Given the description of an element on the screen output the (x, y) to click on. 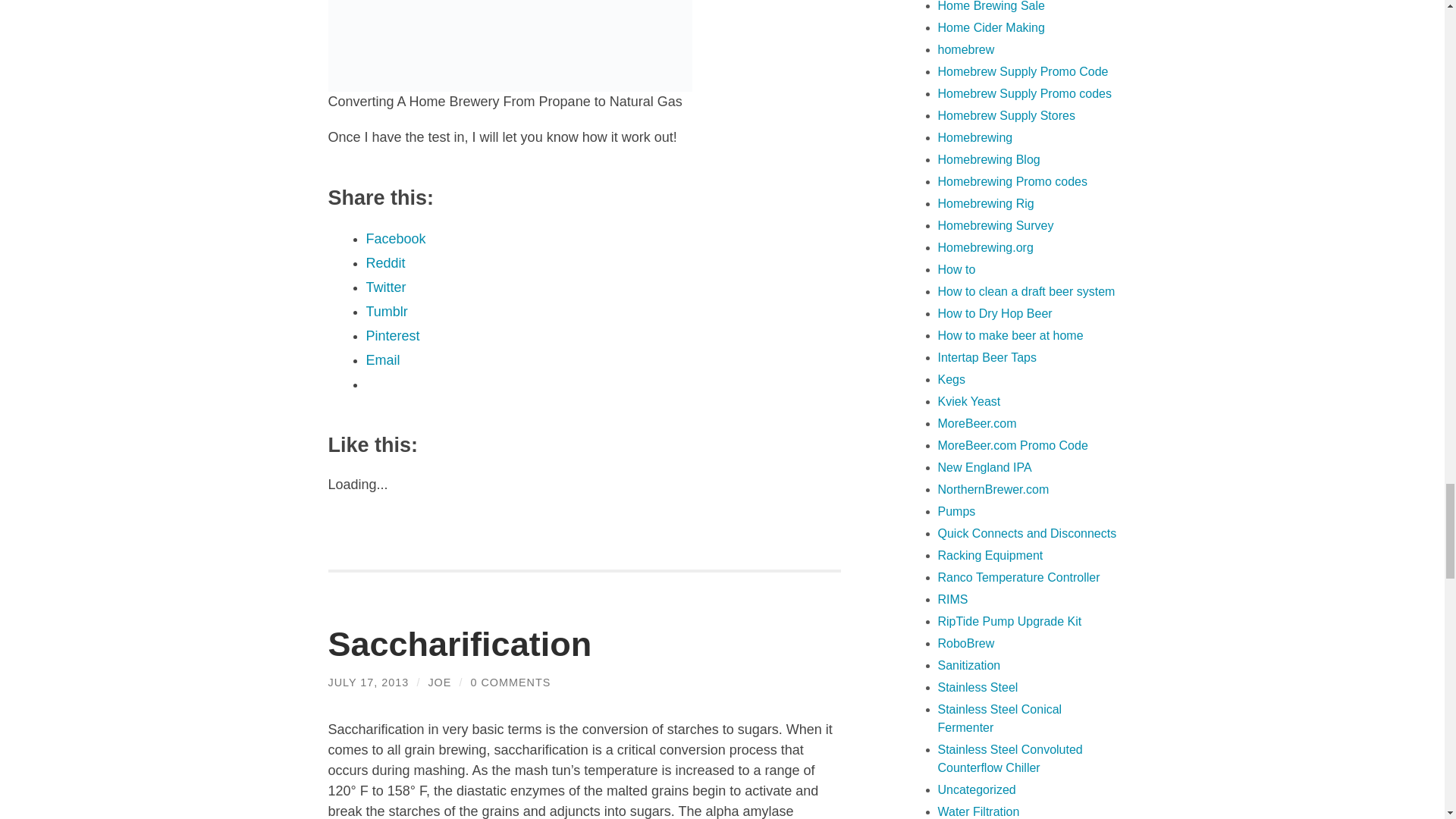
Click to share on Twitter (385, 287)
Click to share on Facebook (395, 238)
Click to share on Tumblr (386, 311)
Posts by Joe (439, 682)
Click to share on Pinterest (392, 335)
Click to share on Reddit (384, 263)
Click to email a link to a friend (381, 359)
